Given the description of an element on the screen output the (x, y) to click on. 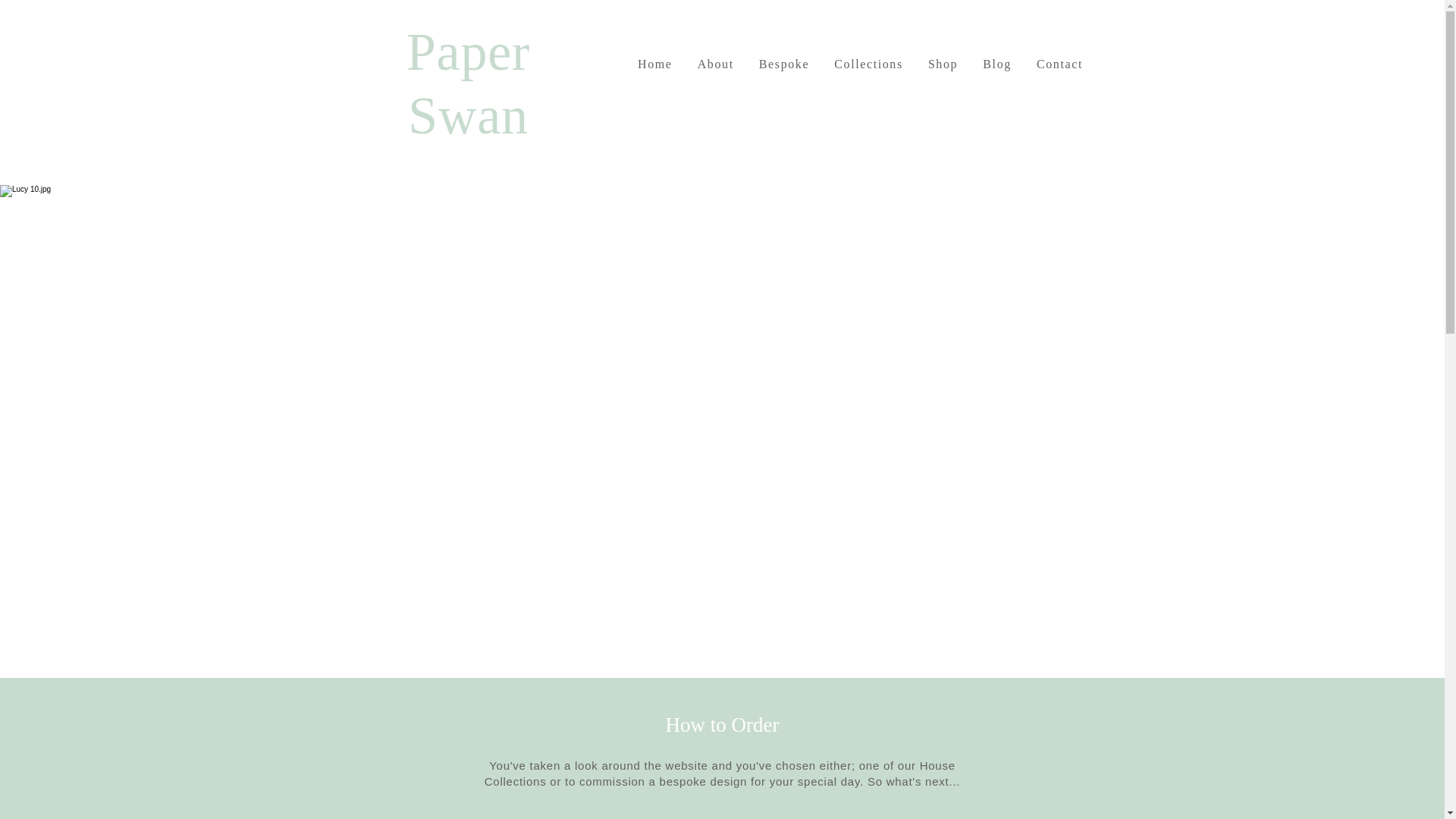
Paper Swan (467, 83)
About (714, 64)
Contact (1059, 64)
Shop (942, 64)
Home (654, 64)
Collections (868, 64)
Blog (998, 64)
Bespoke (783, 64)
